Given the description of an element on the screen output the (x, y) to click on. 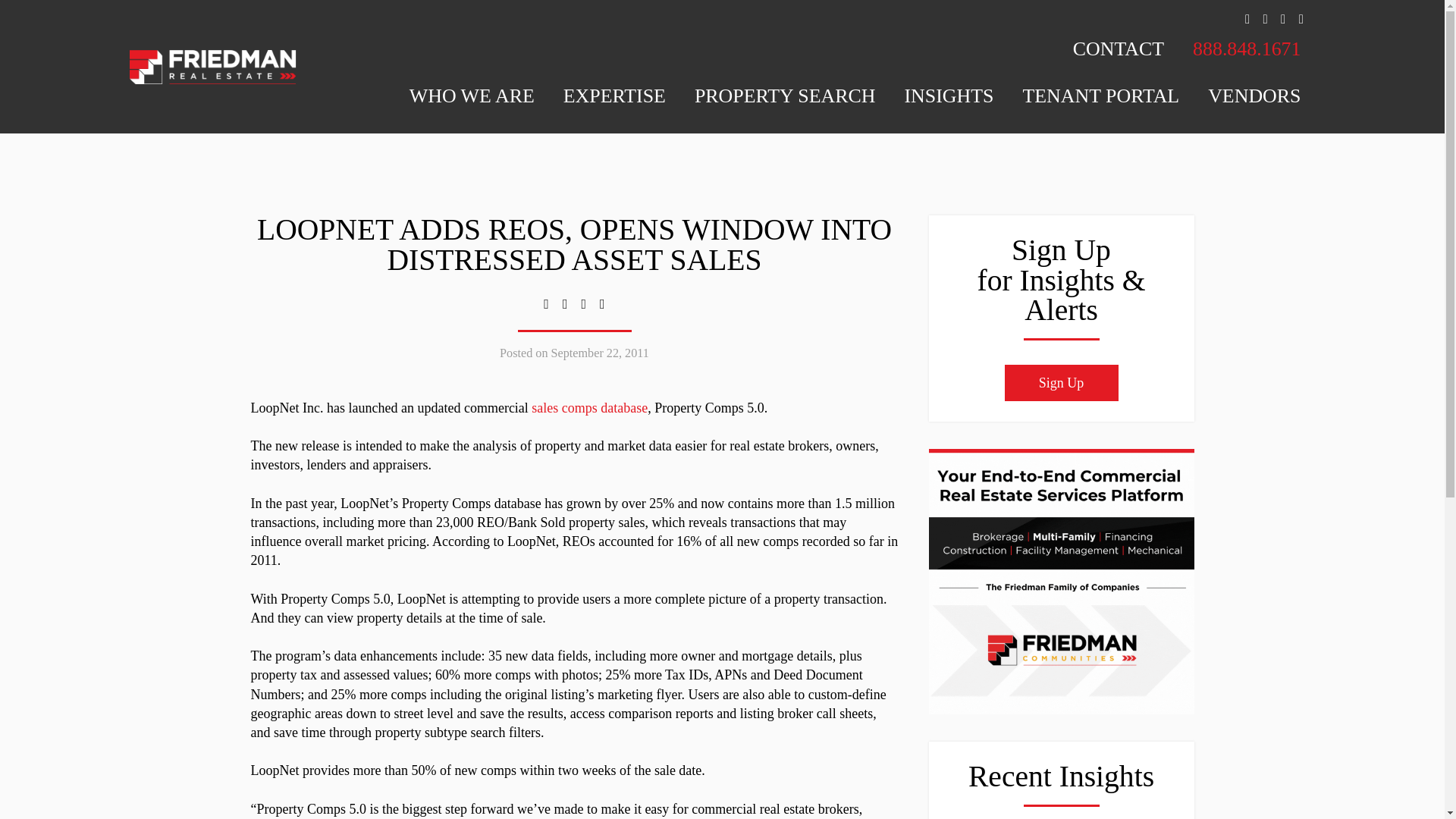
TENANT PORTAL (1100, 109)
CONTACT (1118, 62)
WHO WE ARE (471, 109)
PROPERTY SEARCH (785, 109)
sales comps database (589, 407)
EXPERTISE (613, 109)
Sign Up (1061, 382)
888.848.1671 (1246, 62)
VENDORS (1253, 109)
INSIGHTS (948, 109)
